Given the description of an element on the screen output the (x, y) to click on. 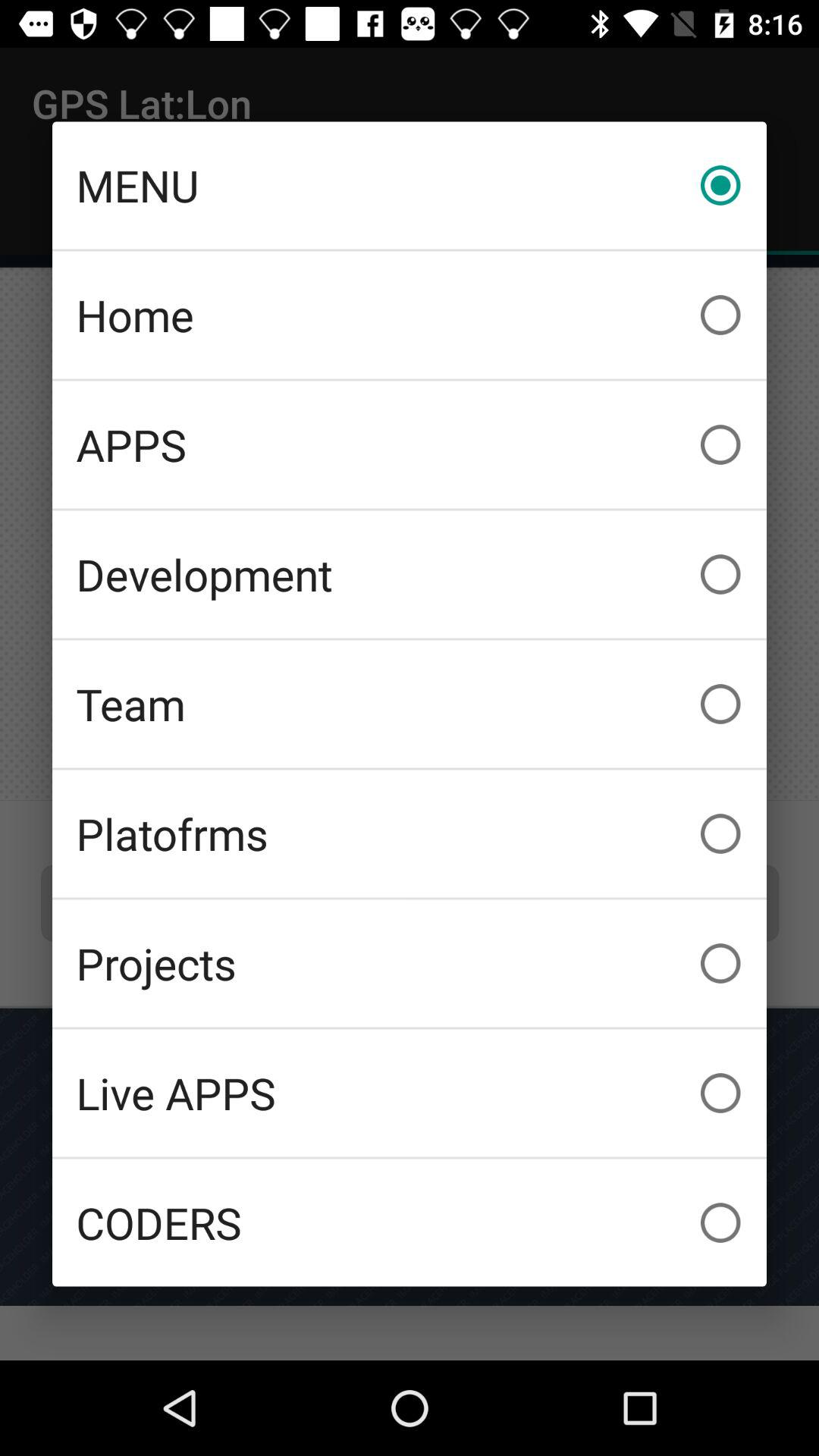
tap the icon below the apps item (409, 574)
